Given the description of an element on the screen output the (x, y) to click on. 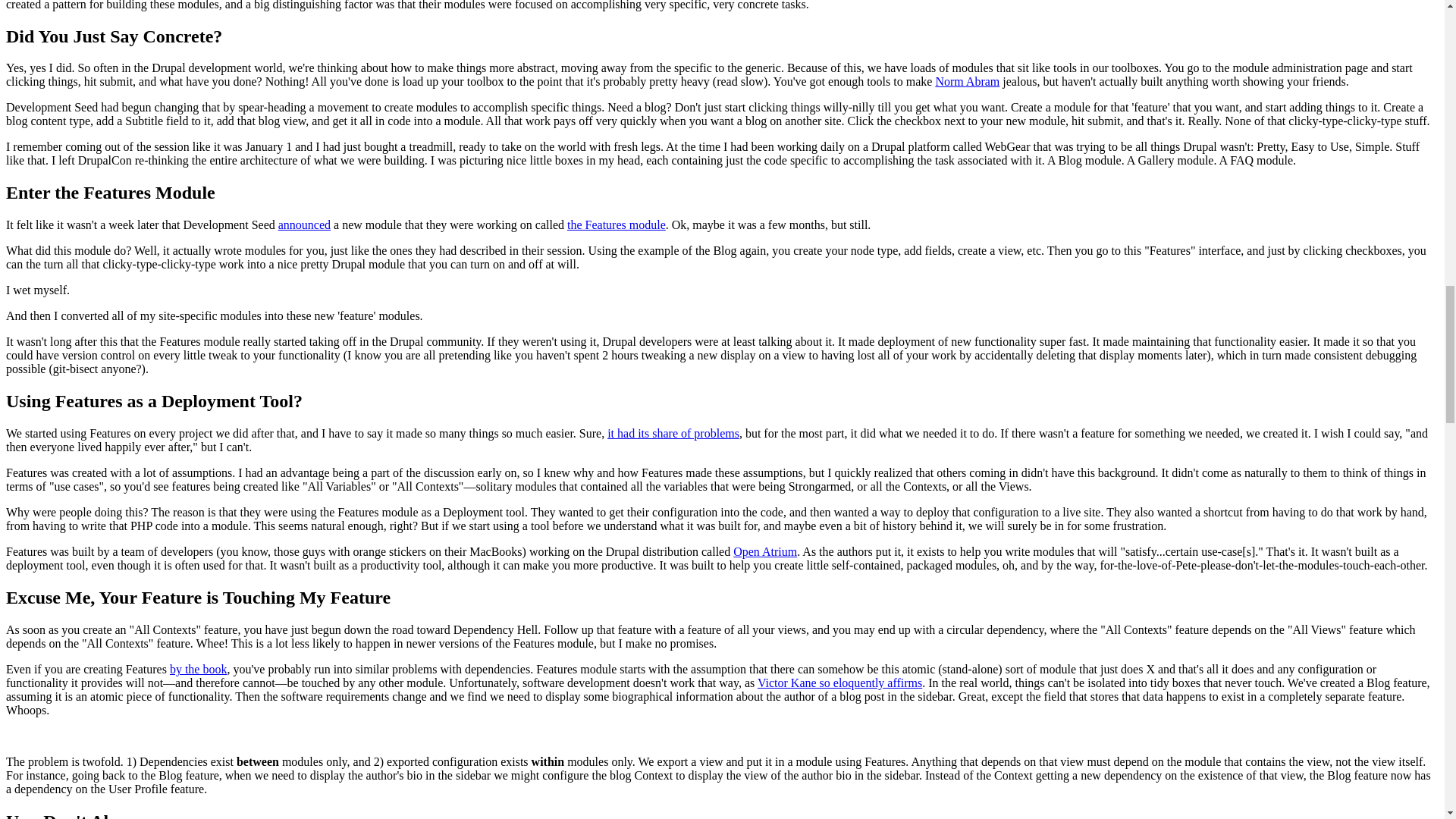
Open Atrium (764, 551)
the Features module (616, 224)
it had its share of problems (673, 432)
Norm Abram (966, 81)
by the book (198, 668)
Victor Kane so eloquently affirms (839, 682)
announced (304, 224)
